Given the description of an element on the screen output the (x, y) to click on. 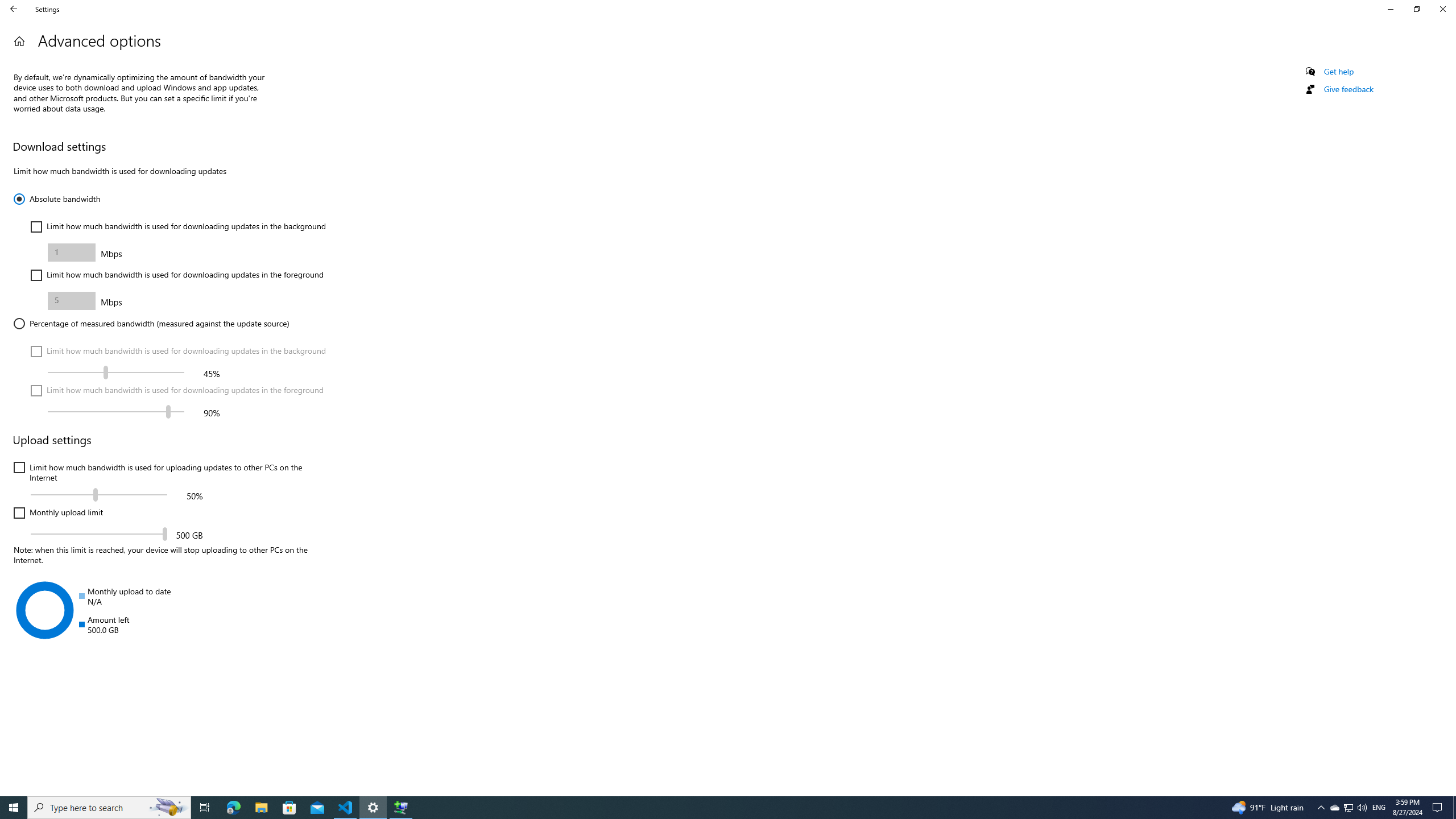
Extensible Wizards Host Process - 1 running window (400, 807)
Monthly upload limit (58, 512)
